Given the description of an element on the screen output the (x, y) to click on. 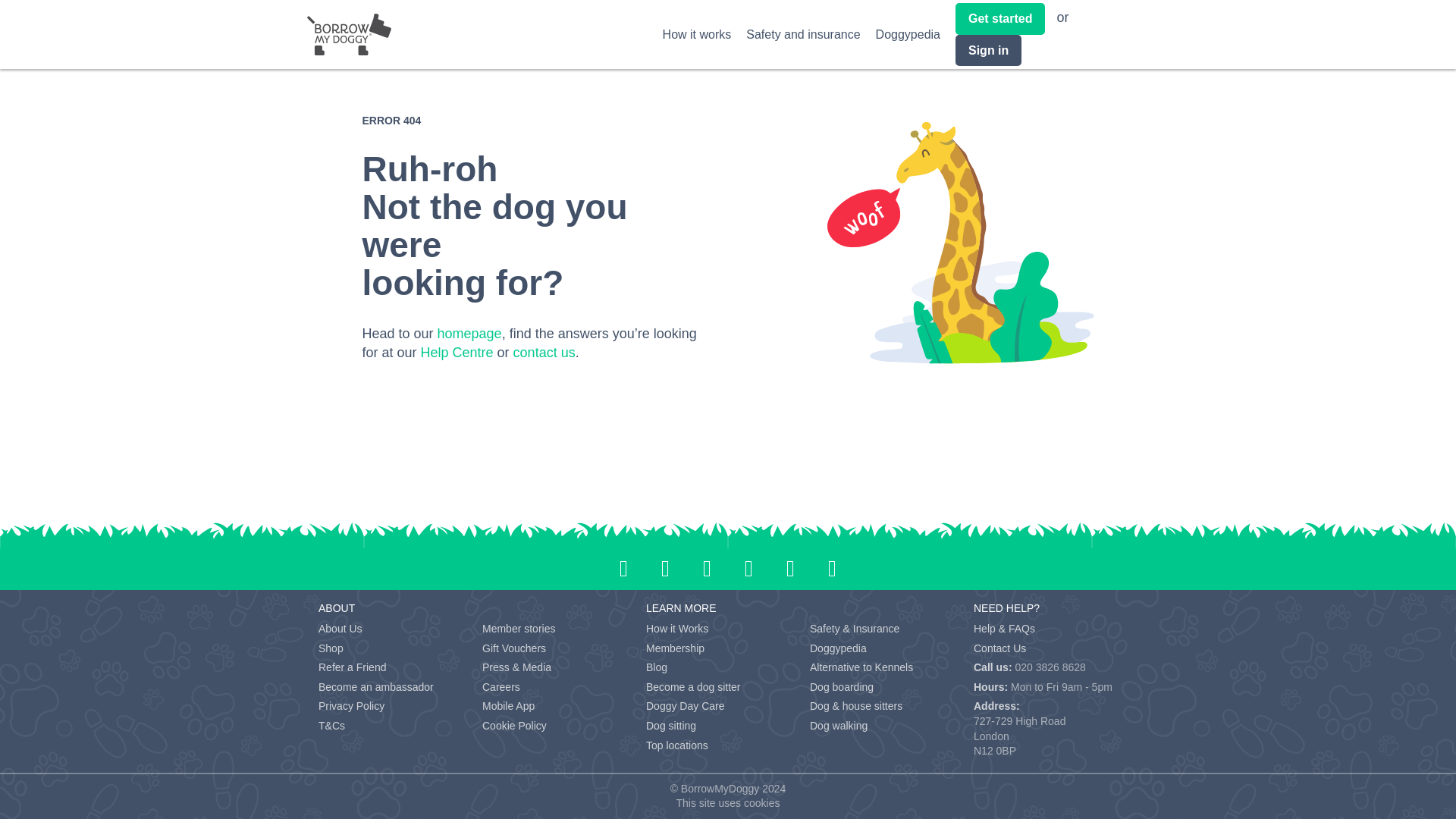
Alternative to Kennels (860, 666)
Membership (675, 648)
Sign in (988, 50)
Doggypedia (837, 648)
Get started (1000, 18)
How it Works (676, 628)
Become an ambassador (375, 686)
Refer a Friend (351, 666)
Shop (330, 648)
Doggypedia (908, 34)
